Given the description of an element on the screen output the (x, y) to click on. 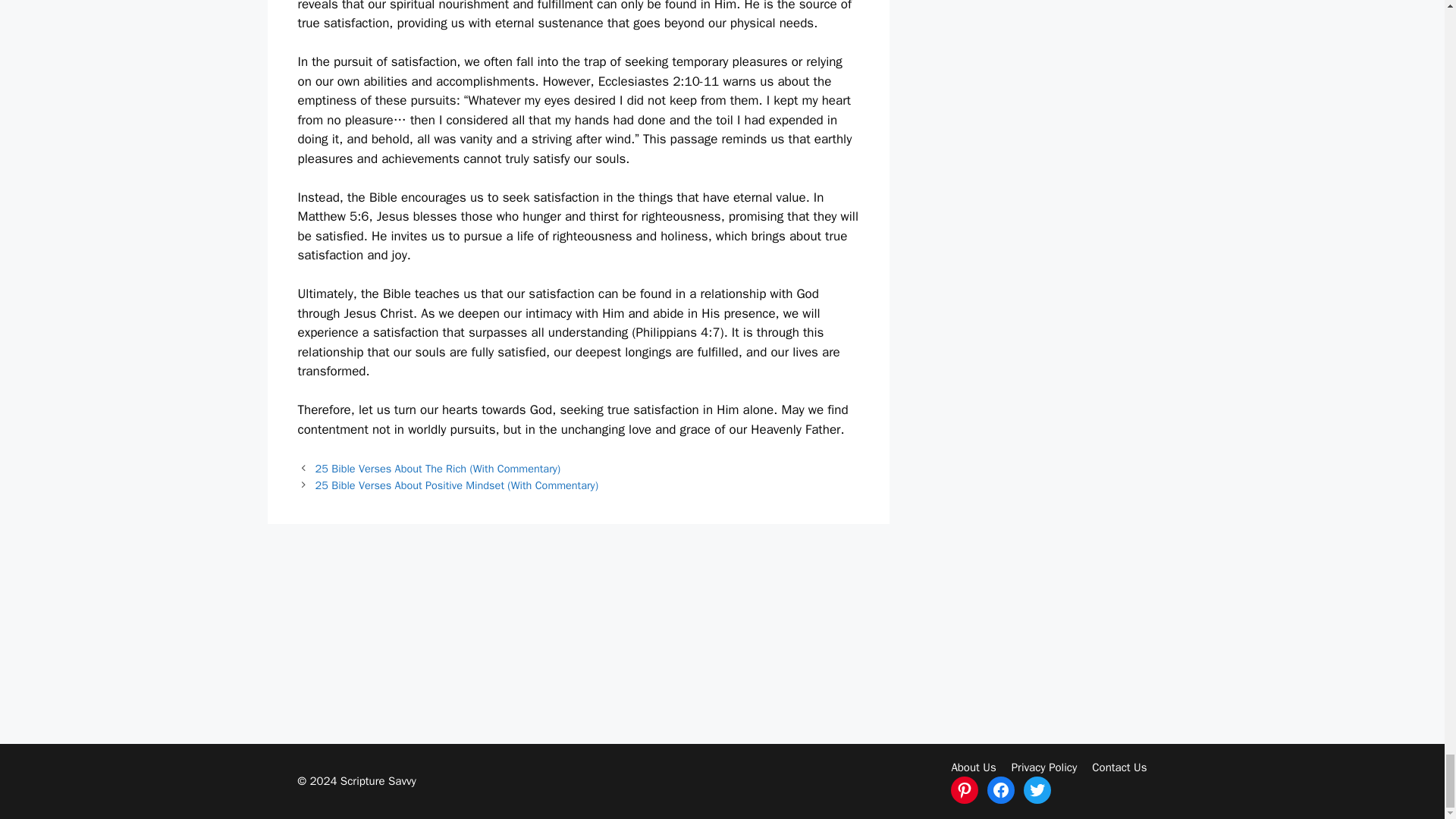
Contact Us (1119, 766)
Privacy Policy (1044, 766)
Twitter (1037, 789)
Pinterest (964, 789)
Facebook (1000, 789)
About Us (972, 766)
